Given the description of an element on the screen output the (x, y) to click on. 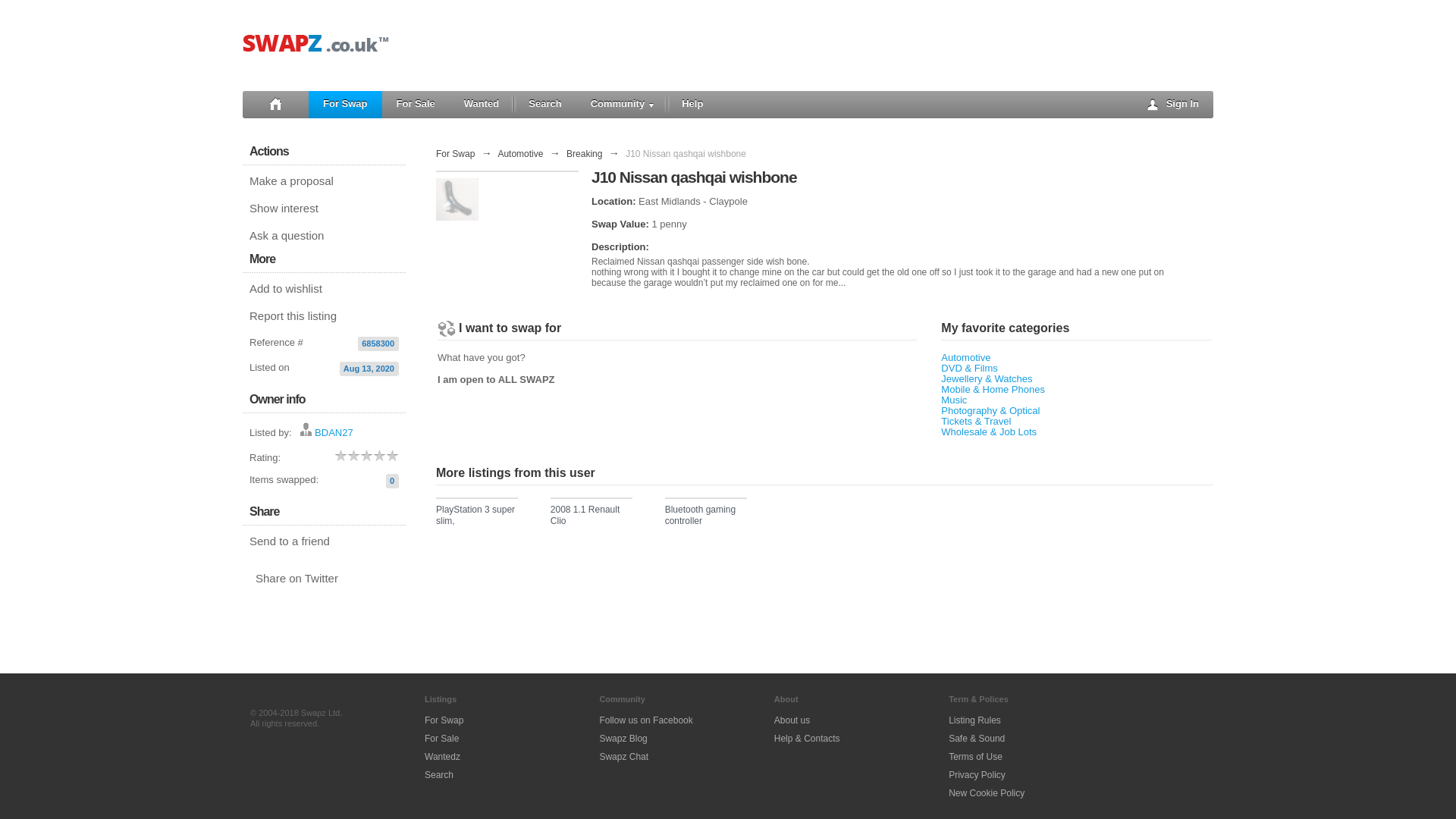
Sign In (1173, 103)
Search (544, 103)
Breaking (584, 153)
Make a proposal (324, 181)
For Swap (454, 153)
Music (953, 399)
Help (691, 103)
Show interest (324, 208)
Bluetooth gaming controller (705, 517)
Wanted (481, 103)
